Given the description of an element on the screen output the (x, y) to click on. 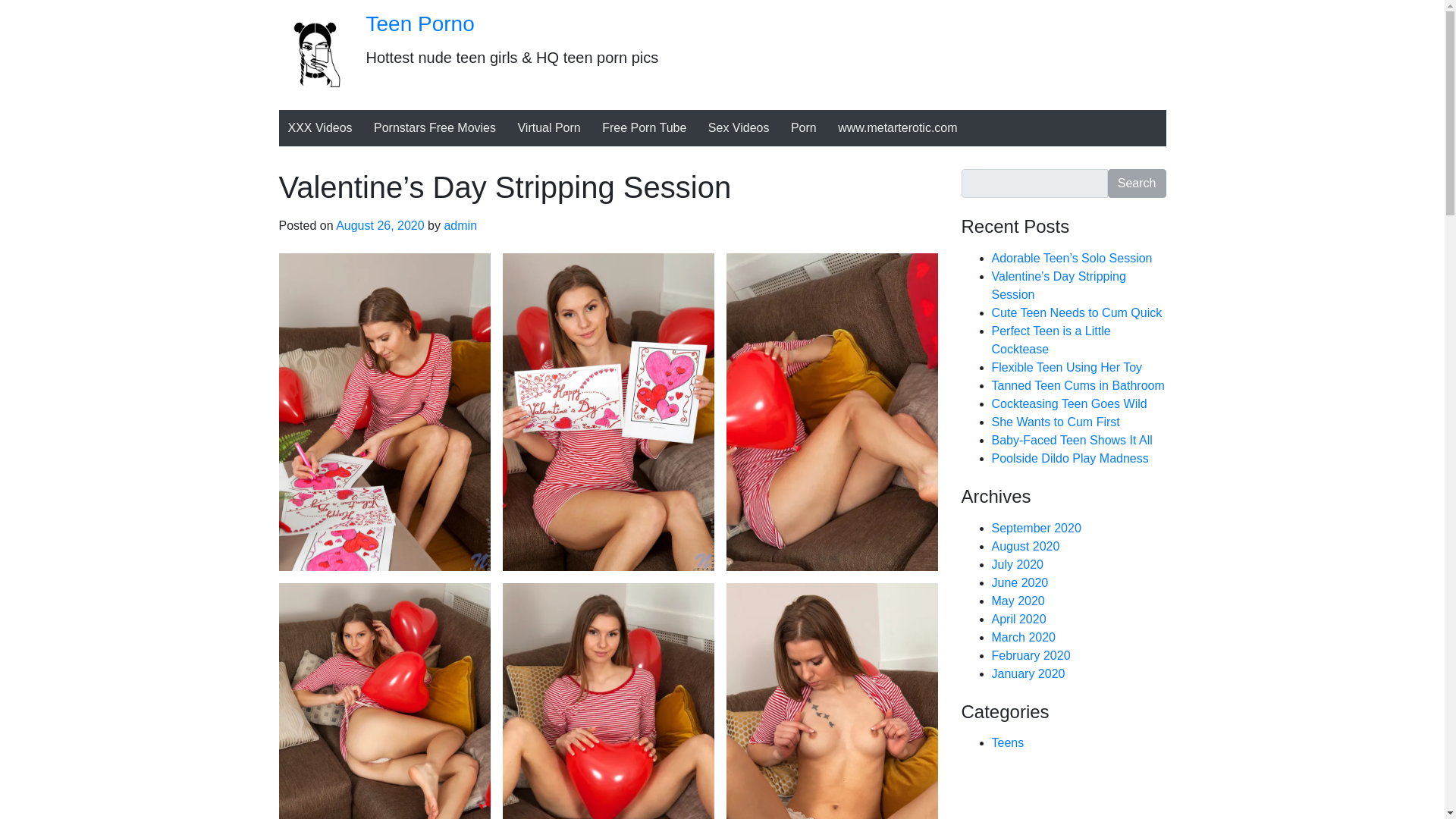
June 2020 (1019, 582)
February 2020 (1030, 655)
March 2020 (1024, 636)
She Wants to Cum First (1055, 421)
Virtual Porn (548, 127)
Tanned Teen Cums in Bathroom (1077, 385)
Flexible Teen Using Her Toy (1066, 367)
admin (460, 225)
Cute Teen Needs to Cum Quick (1076, 312)
Teen Porno (419, 24)
April 2020 (1018, 618)
Poolside Dildo Play Madness (1069, 458)
September 2020 (1036, 527)
www.metarterotic.com (897, 127)
Free Porn Tube (643, 127)
